Given the description of an element on the screen output the (x, y) to click on. 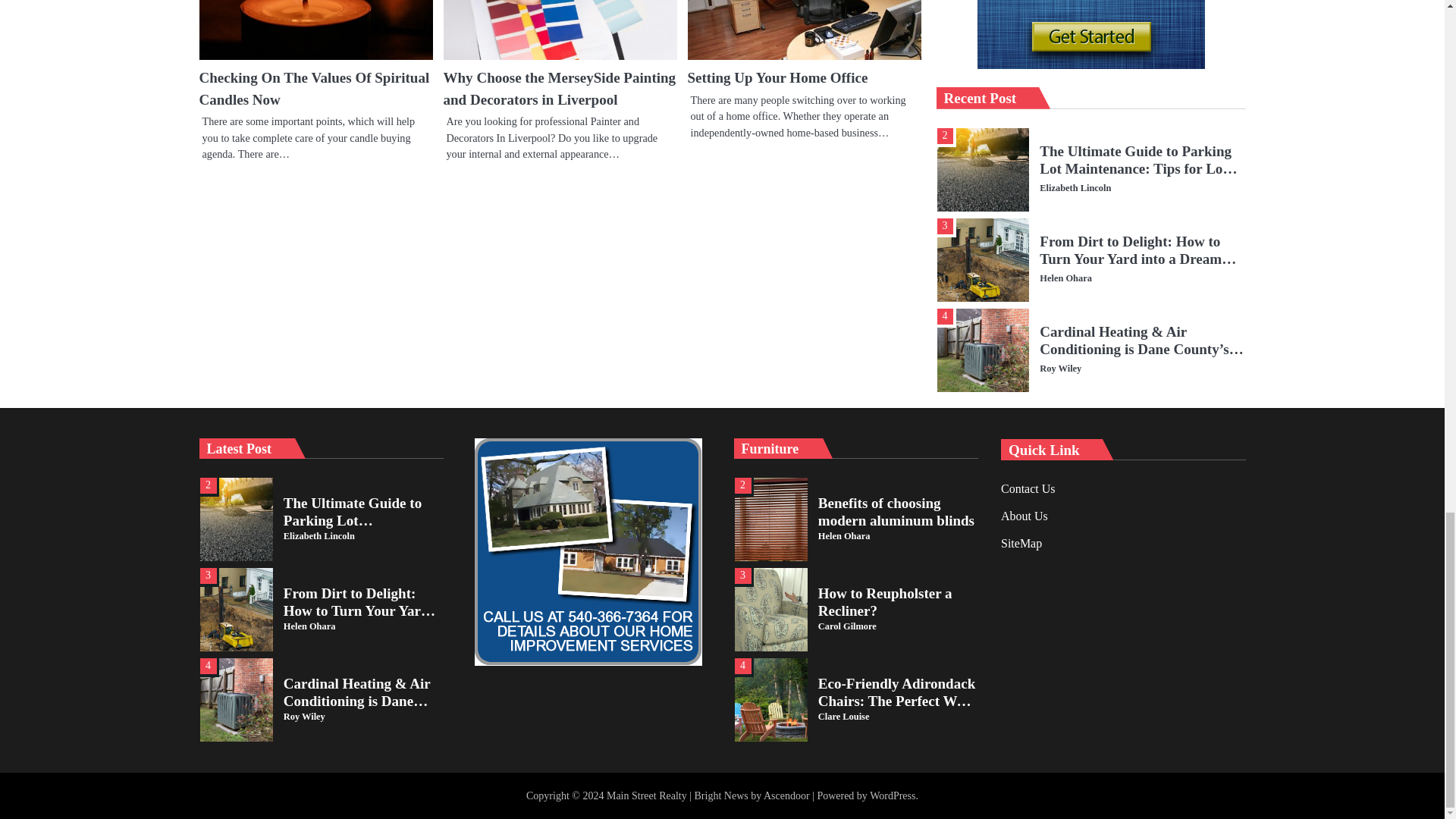
Setting Up Your Home Office (777, 77)
Checking On The Values Of Spiritual Candles Now (313, 88)
